Given the description of an element on the screen output the (x, y) to click on. 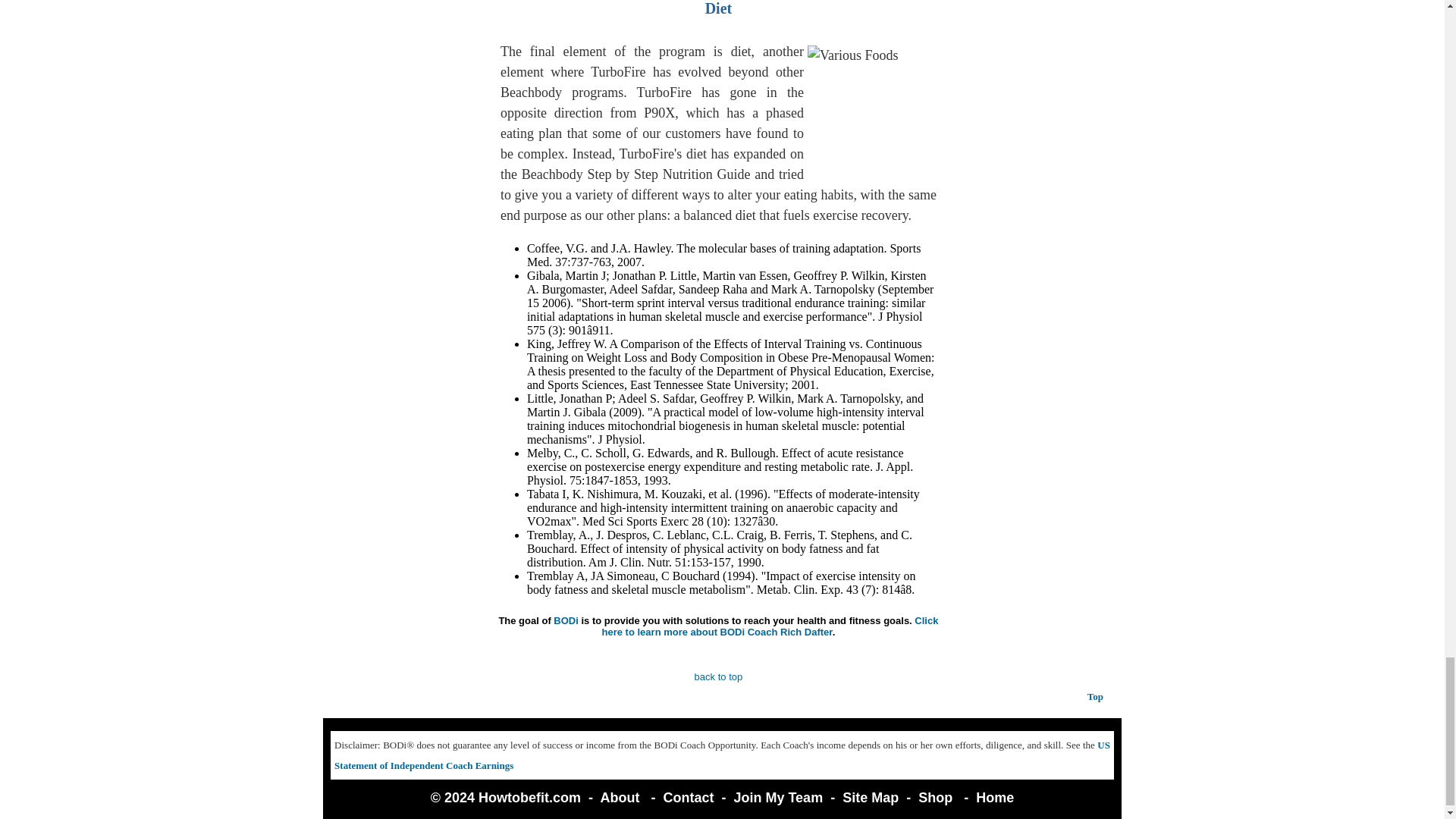
back to top (718, 676)
Click here to learn more about BODi Coach Rich Dafter (770, 626)
BODi (565, 620)
